Given the description of an element on the screen output the (x, y) to click on. 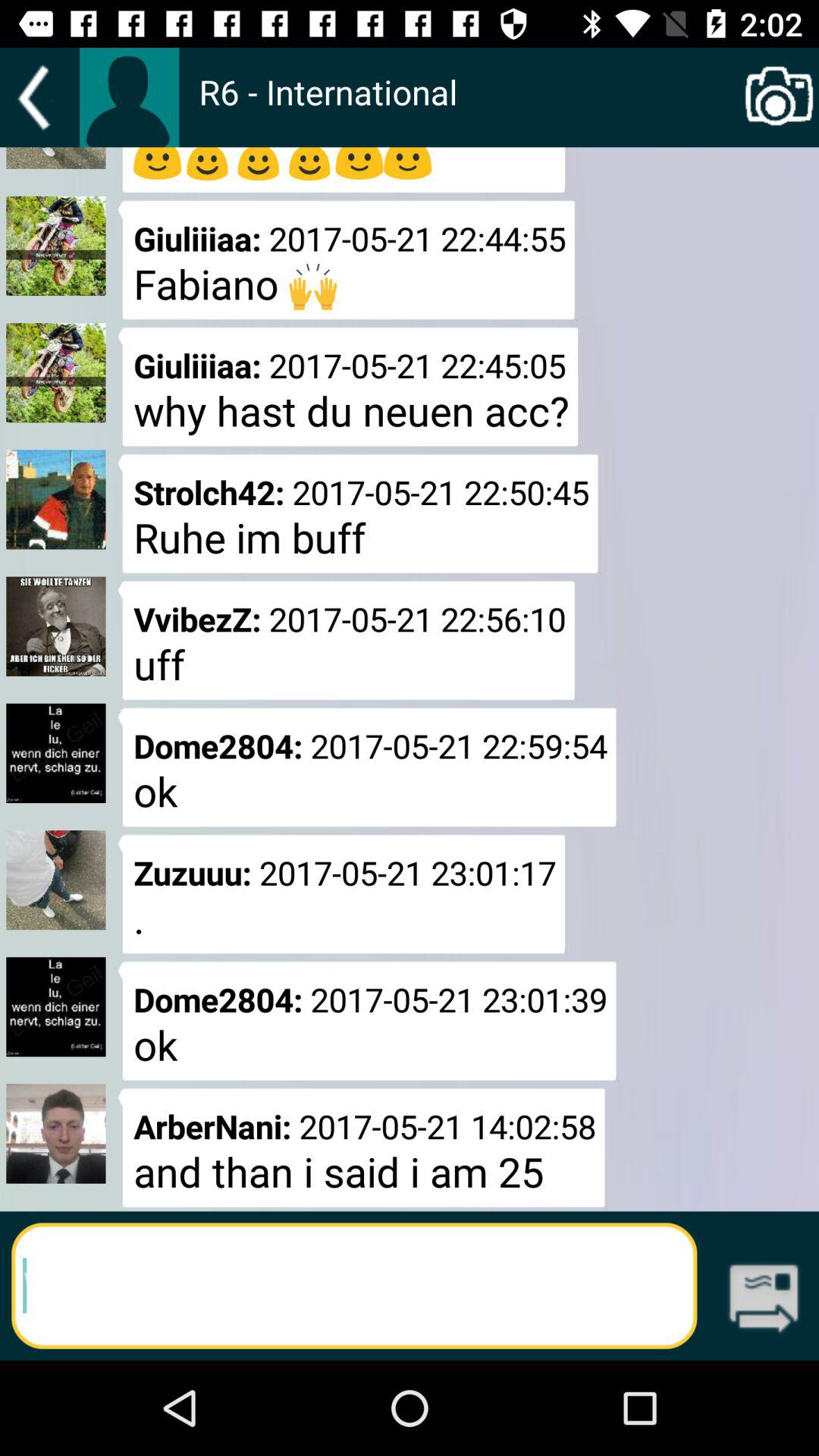
goes back (39, 97)
